Given the description of an element on the screen output the (x, y) to click on. 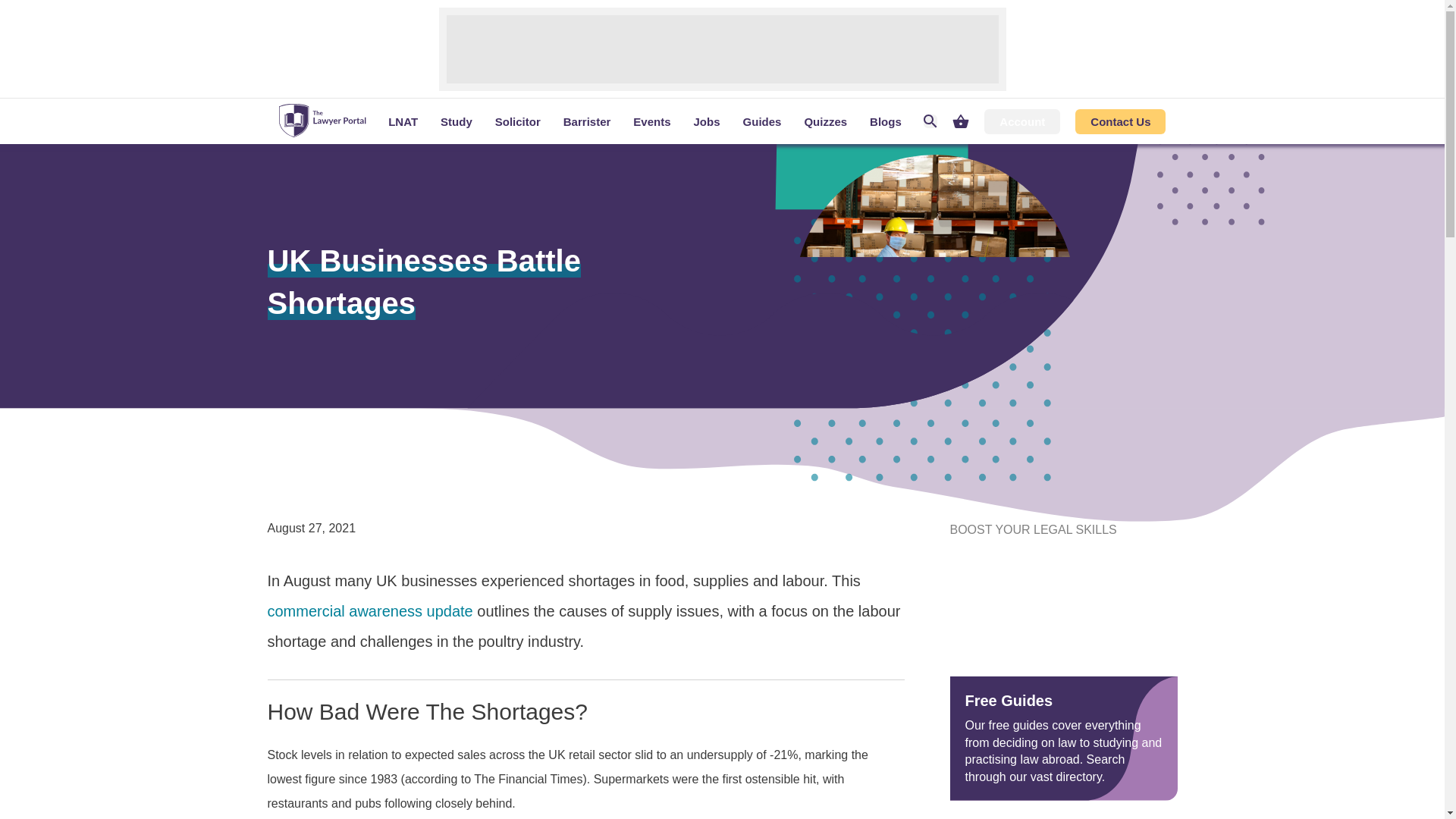
Solicitor (517, 121)
Study (456, 121)
LNAT (403, 121)
